Given the description of an element on the screen output the (x, y) to click on. 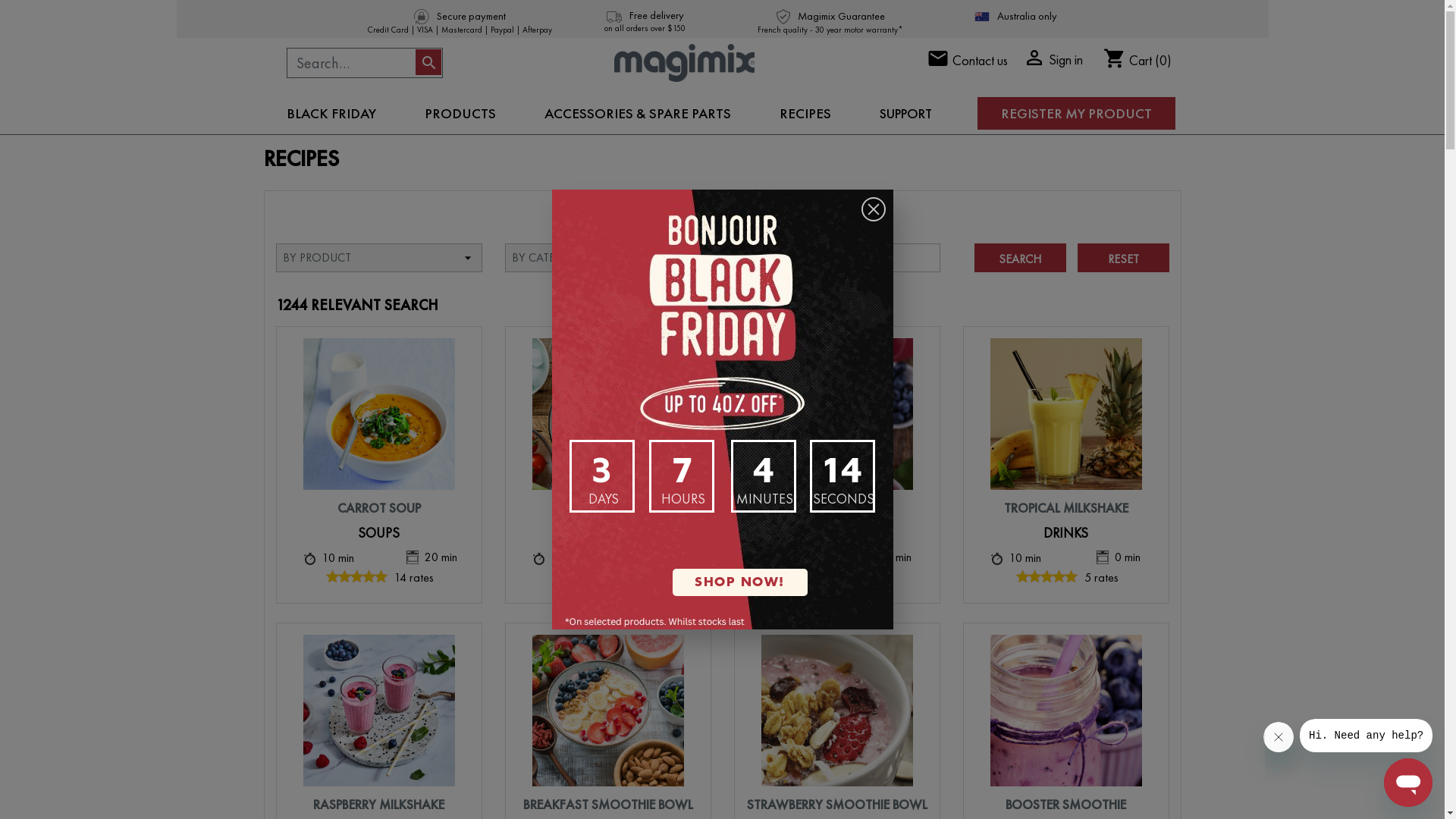
Message from company Element type: hover (1365, 735)
RESET Element type: text (1122, 257)
RECIPES Element type: text (804, 112)
Close message Element type: hover (1278, 736)
ACCESSORIES & SPARE PARTS Element type: text (637, 112)
TROPICAL MILKSHAKE
DRINKS
10 min
0 min
5 rates Element type: text (1065, 461)
GAZPACHO
SOUPS
15 min
0 min
12 rates Element type: text (607, 461)
SEARCH Element type: text (1019, 257)
CARROT SOUP
SOUPS
10 min
20 min
14 rates Element type: text (378, 461)
PRODUCTS Element type: text (459, 112)
NUTRI SMOOTHIE
DRINKS
10 min
0 min
9 rates Element type: text (836, 461)
BLACK FRIDAY Element type: text (330, 112)
30 year motor warranty* Element type: text (859, 29)
email Contact us Element type: text (966, 60)
Button to launch messaging window Element type: hover (1407, 782)
REGISTER MY PRODUCT Element type: text (1075, 113)
